Given the description of an element on the screen output the (x, y) to click on. 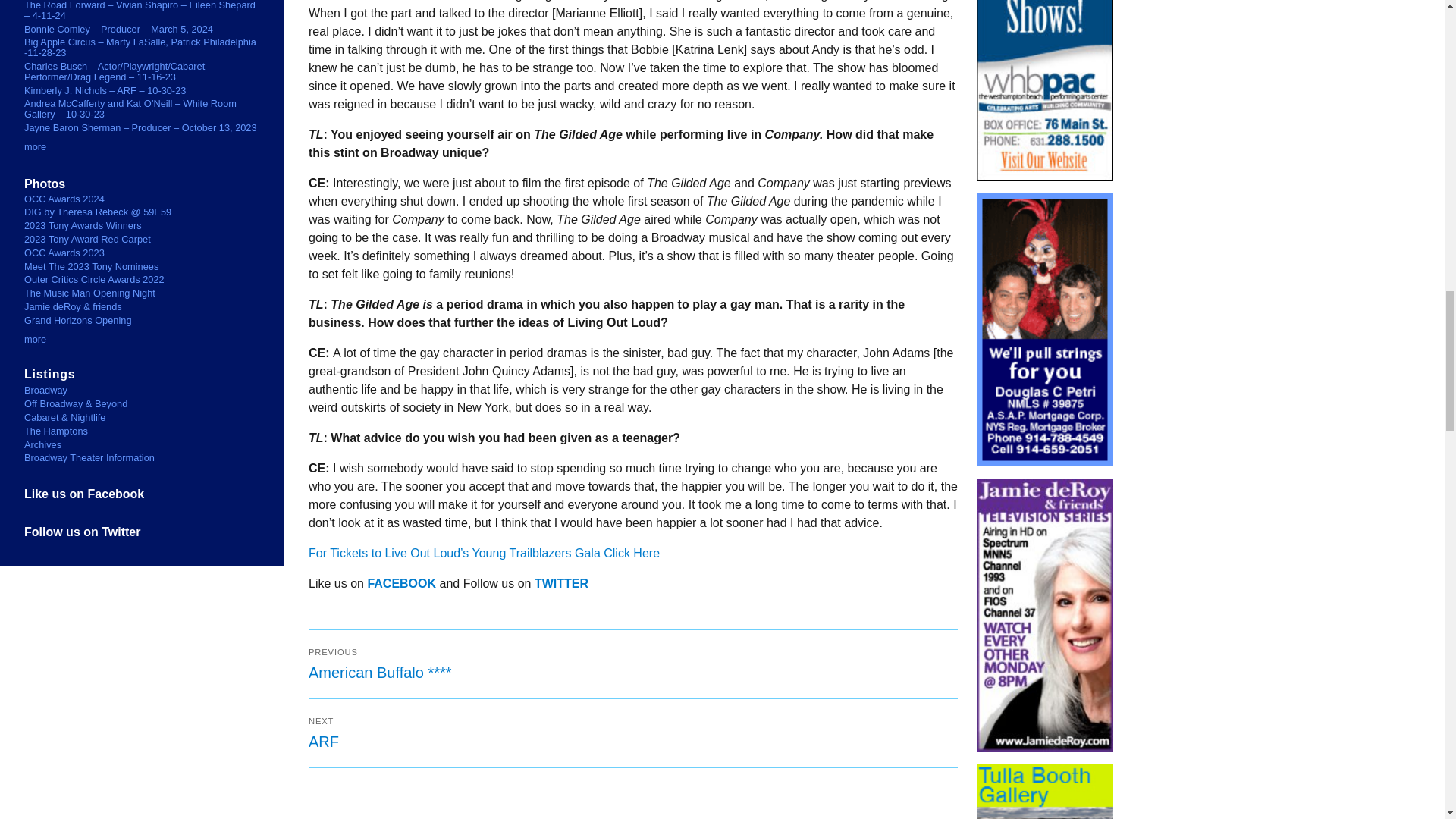
FACEBOOK (633, 733)
TWITTER (400, 583)
